Given the description of an element on the screen output the (x, y) to click on. 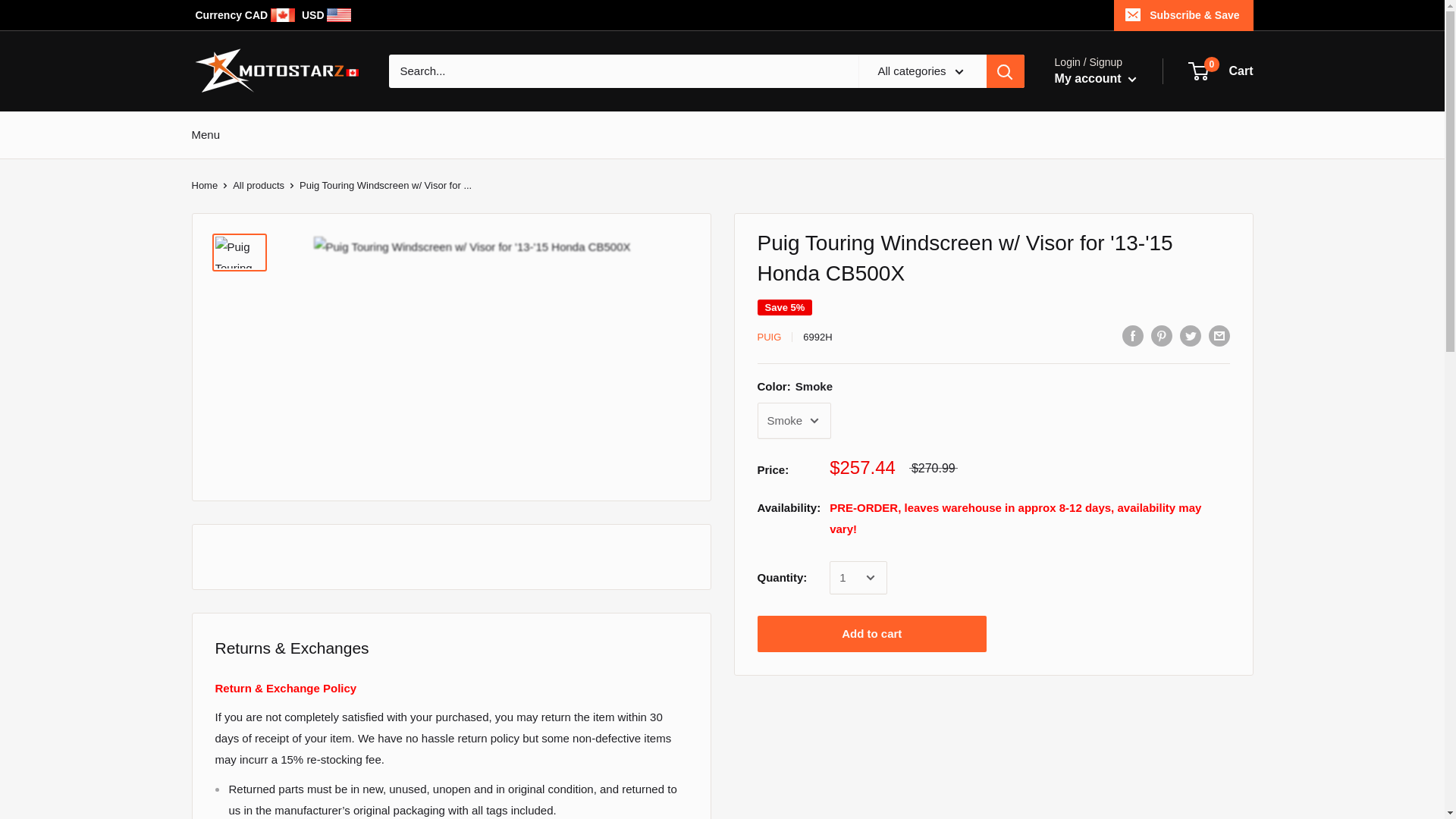
All products (257, 184)
Home (203, 184)
Add to cart (872, 633)
Menu (204, 133)
Currency CAD (1220, 70)
PUIG (246, 15)
My account (768, 337)
USD (1095, 78)
